Given the description of an element on the screen output the (x, y) to click on. 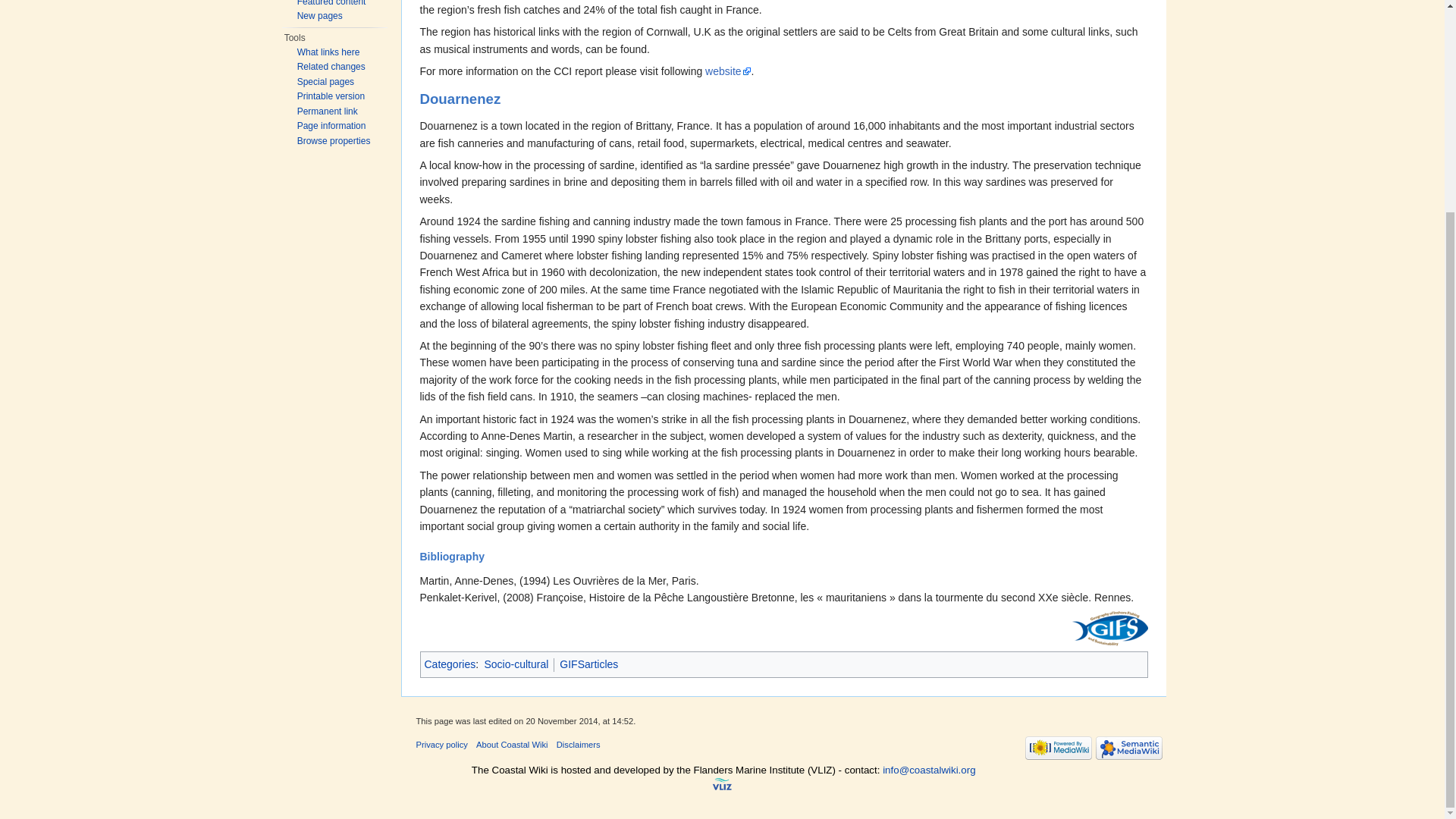
Categories (450, 664)
Socio-cultural (515, 664)
New pages (319, 15)
GIFSarticles (588, 664)
Related changes (331, 66)
Printable version (331, 95)
Privacy policy (440, 744)
Disclaimers (577, 744)
Browse properties (334, 140)
Featured content (331, 2)
What links here (328, 51)
Permanent link to this revision of the page (327, 111)
Permanent link (327, 111)
website (727, 70)
Special pages (325, 81)
